Given the description of an element on the screen output the (x, y) to click on. 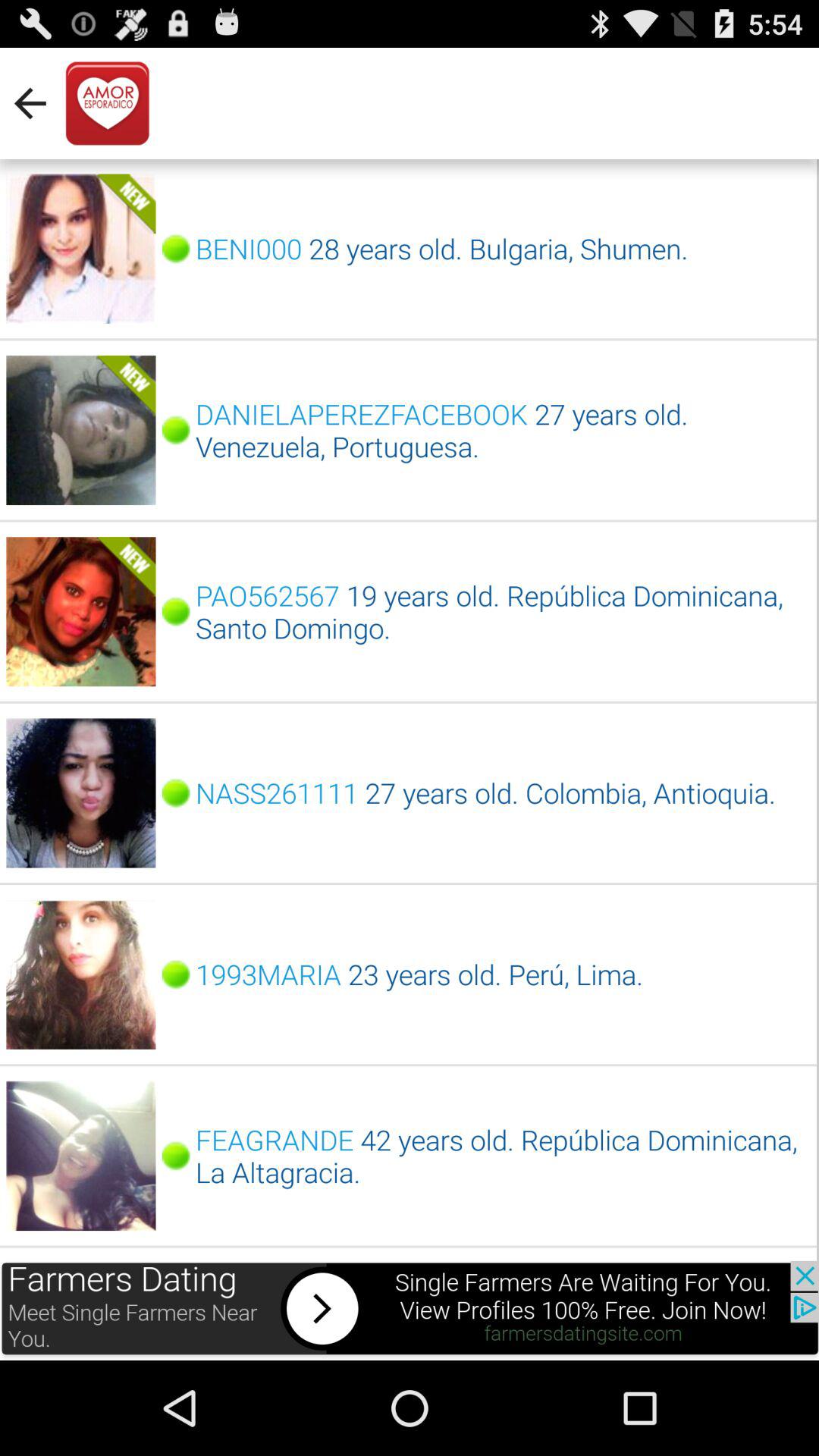
select farmers dating advertisement (409, 1310)
